Given the description of an element on the screen output the (x, y) to click on. 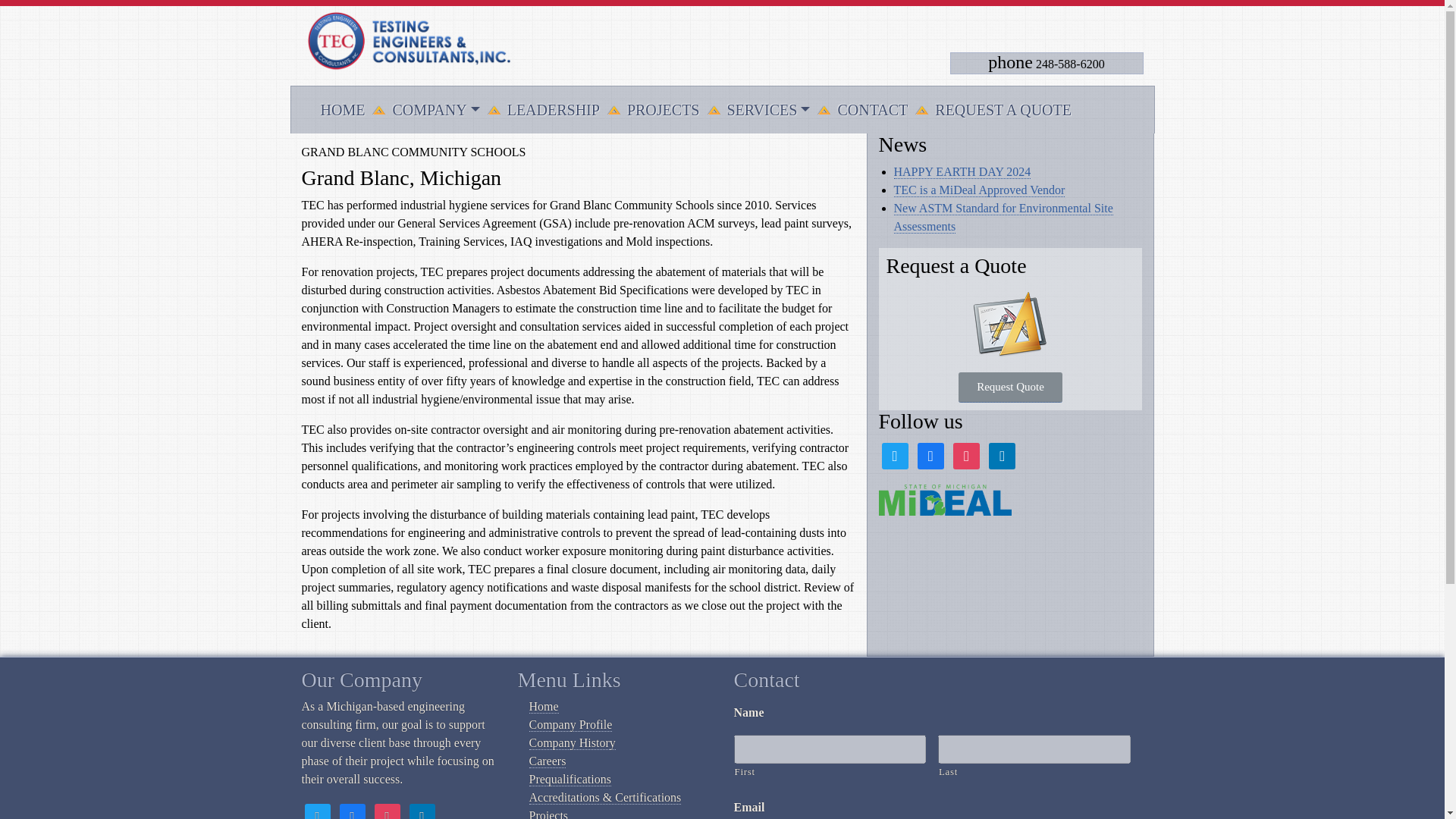
LinkedIn (422, 814)
Company History (572, 743)
Twitter (317, 814)
Home (544, 706)
TEC is a MiDeal Approved Vendor (978, 190)
LEADERSHIP (552, 109)
COMPANY (434, 109)
Instagram (966, 454)
CONTACT (872, 109)
Prequalifications (570, 779)
Facebook (352, 814)
Company Profile (570, 725)
New ASTM Standard for Environmental Site Assessments (1002, 217)
LinkedIn (1001, 454)
SERVICES (767, 109)
